Given the description of an element on the screen output the (x, y) to click on. 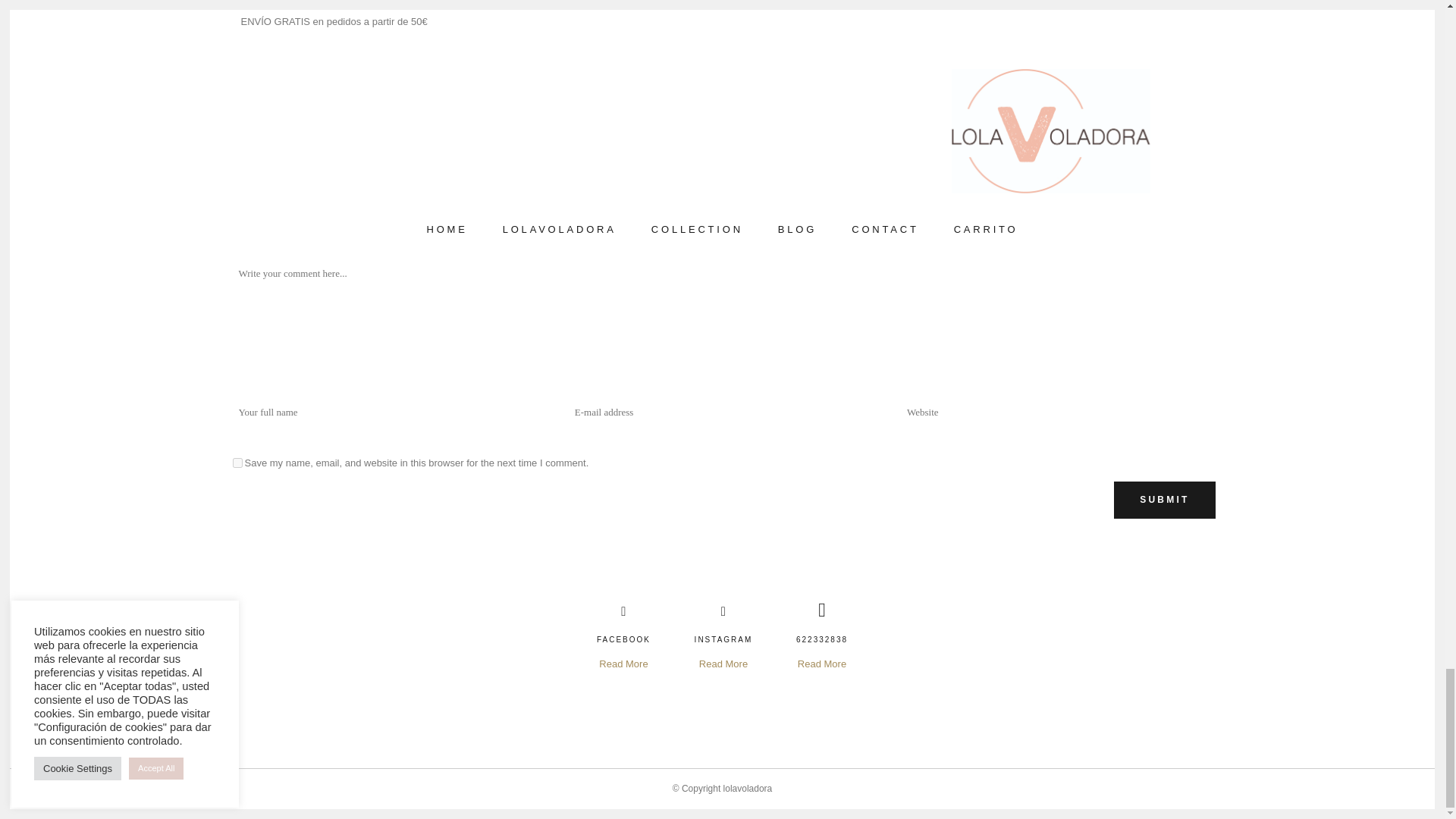
lolavoladora (748, 787)
yes (236, 462)
Read More (821, 664)
Submit (1163, 499)
Read More (622, 664)
Read More (723, 664)
Submit (1163, 499)
